Given the description of an element on the screen output the (x, y) to click on. 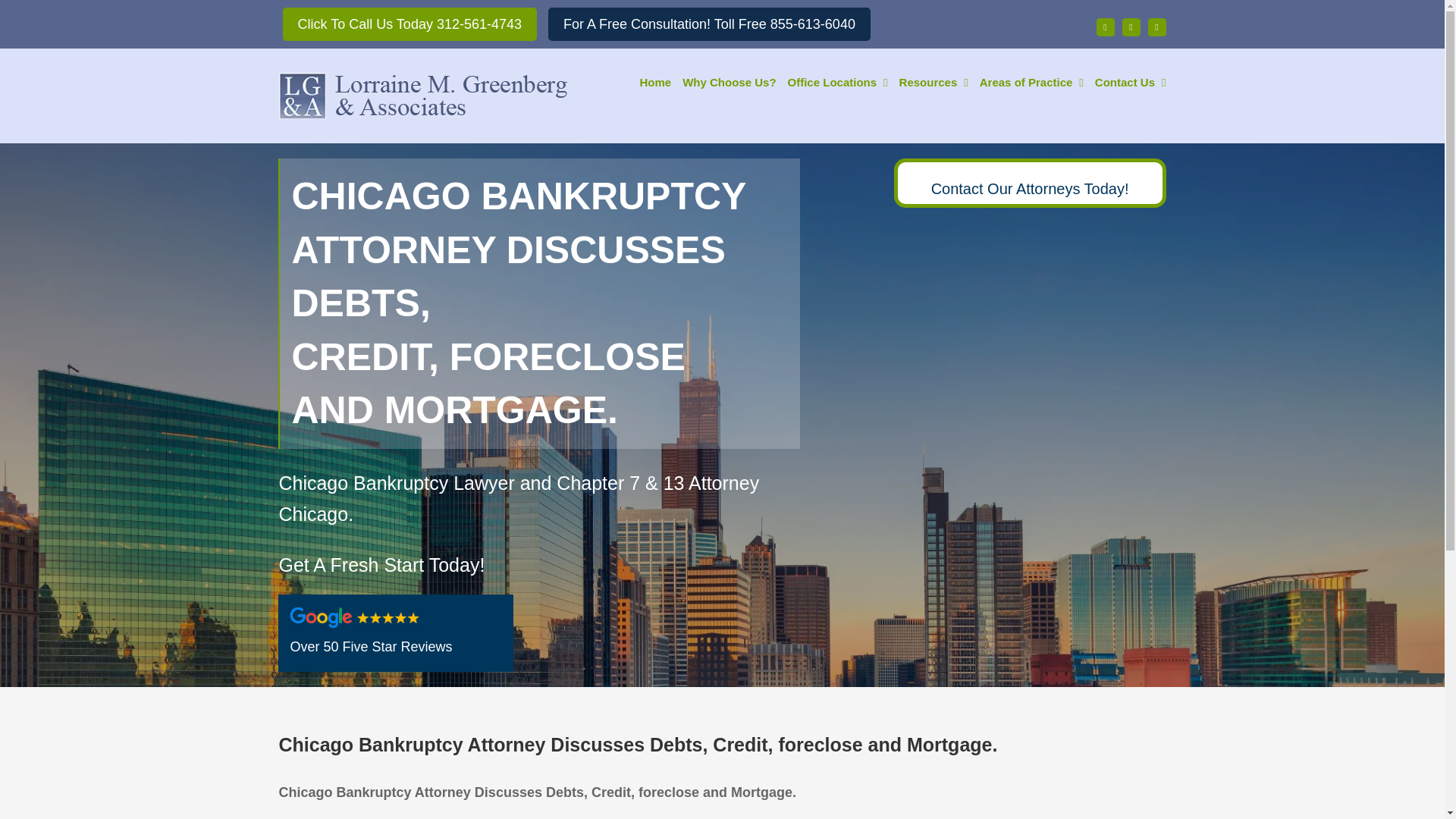
For A Free Consultation! Toll Free 855-613-6040 (709, 23)
Why Choose Us? (729, 81)
Facebook (1105, 27)
Twitter (1131, 27)
Resources (933, 81)
Office Locations (837, 81)
LinkedIn (1157, 27)
LinkedIn (1157, 27)
Facebook (1105, 27)
Twitter (1131, 27)
